Given the description of an element on the screen output the (x, y) to click on. 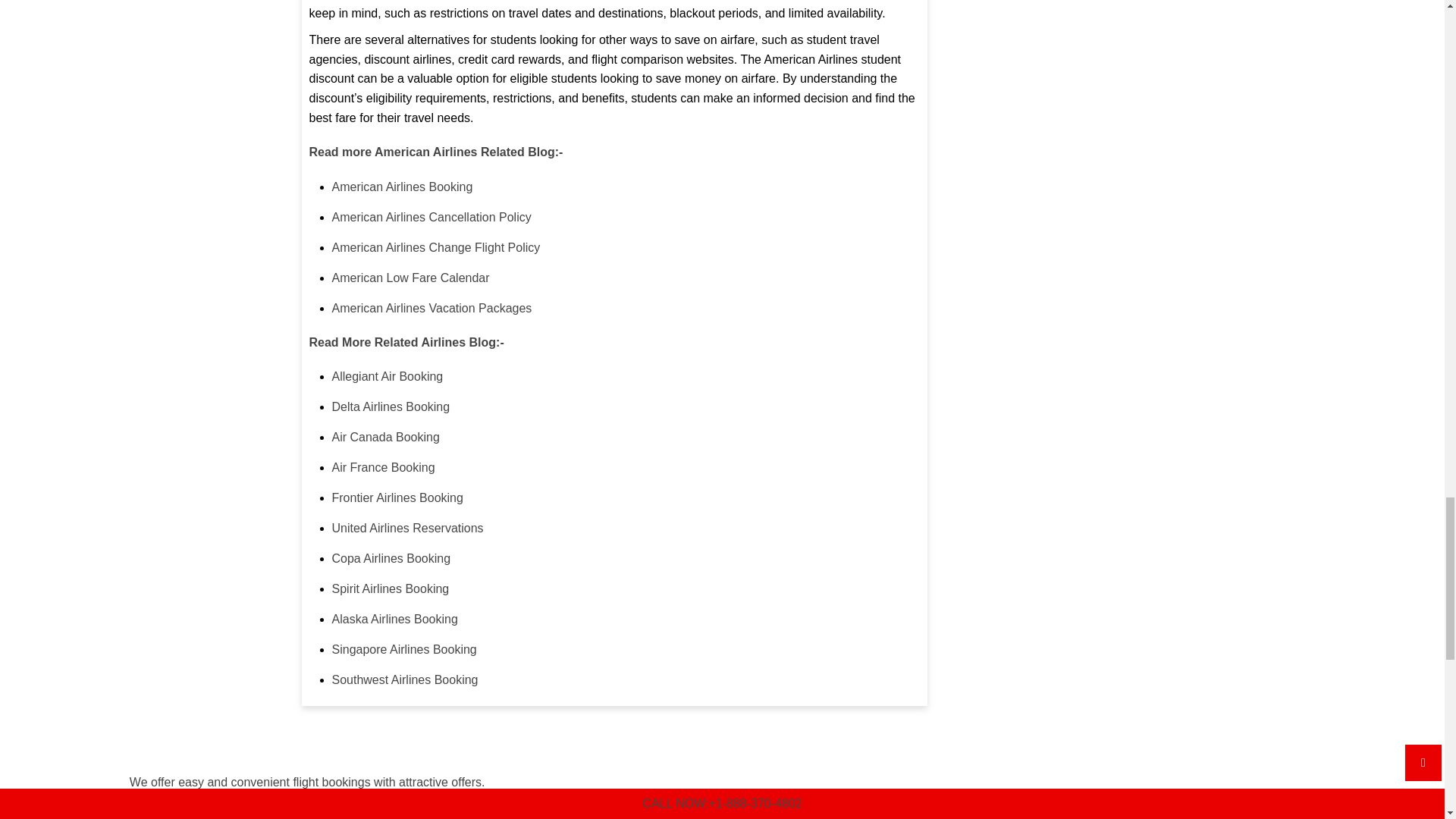
American Airlines Change Flight Policy (435, 246)
American Airlines Vacation Packages (431, 308)
Allegiant Air Booking (387, 376)
American Airlines Cancellation Policy (431, 216)
Air France Booking (383, 467)
Alaska Airlines Booking (394, 618)
Frontier Airlines Booking (397, 497)
Air Canada Booking (385, 436)
Singapore Airlines Booking (404, 649)
American Airlines Booking (402, 186)
